Given the description of an element on the screen output the (x, y) to click on. 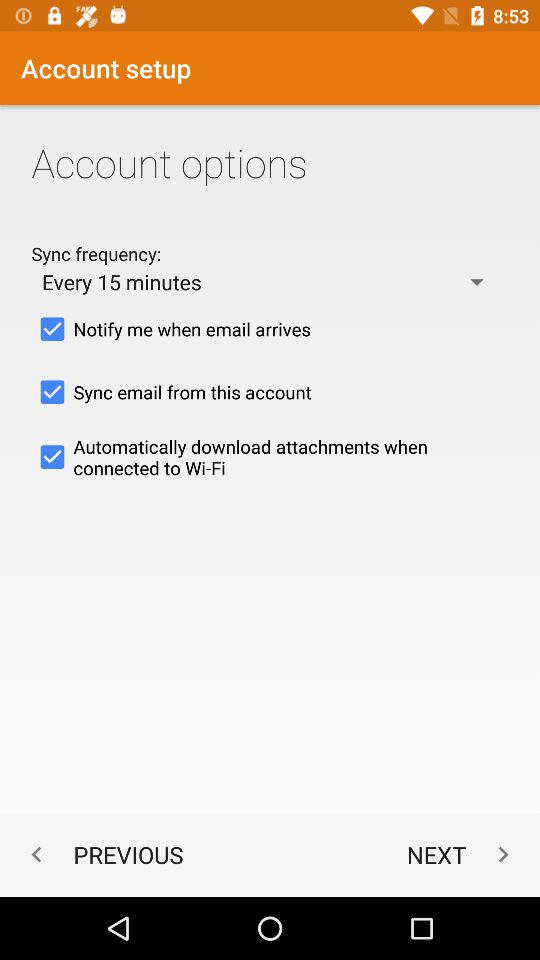
turn off the checkbox below the notify me when (269, 392)
